Given the description of an element on the screen output the (x, y) to click on. 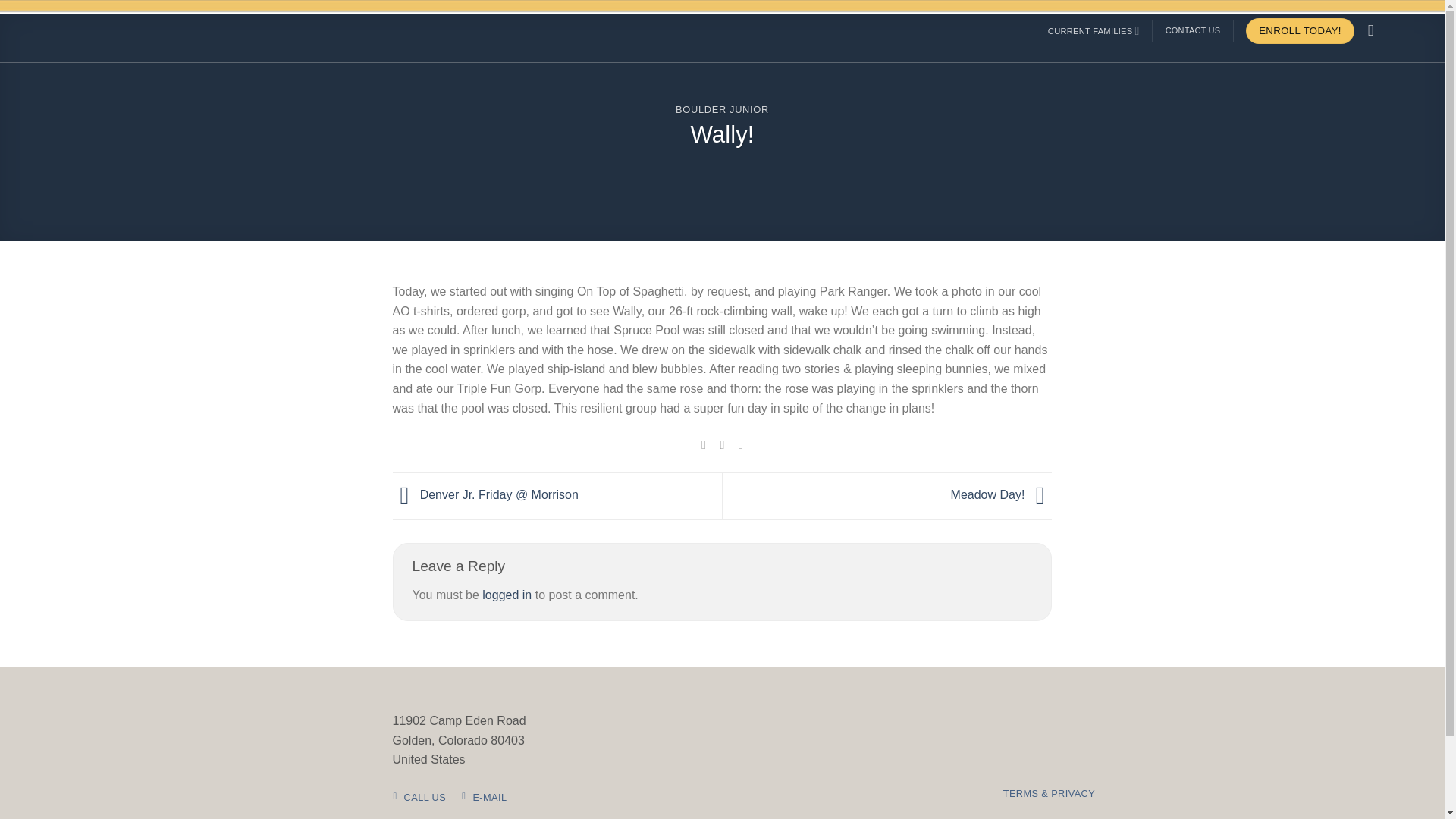
logged in (506, 594)
BOULDER JUNIOR (721, 109)
CONTACT US (1193, 30)
CALL US (419, 797)
ENROLL TODAY! (1300, 31)
CURRENT FAMILIES (1094, 30)
Meadow Day! (1001, 494)
E-MAIL (484, 797)
